Given the description of an element on the screen output the (x, y) to click on. 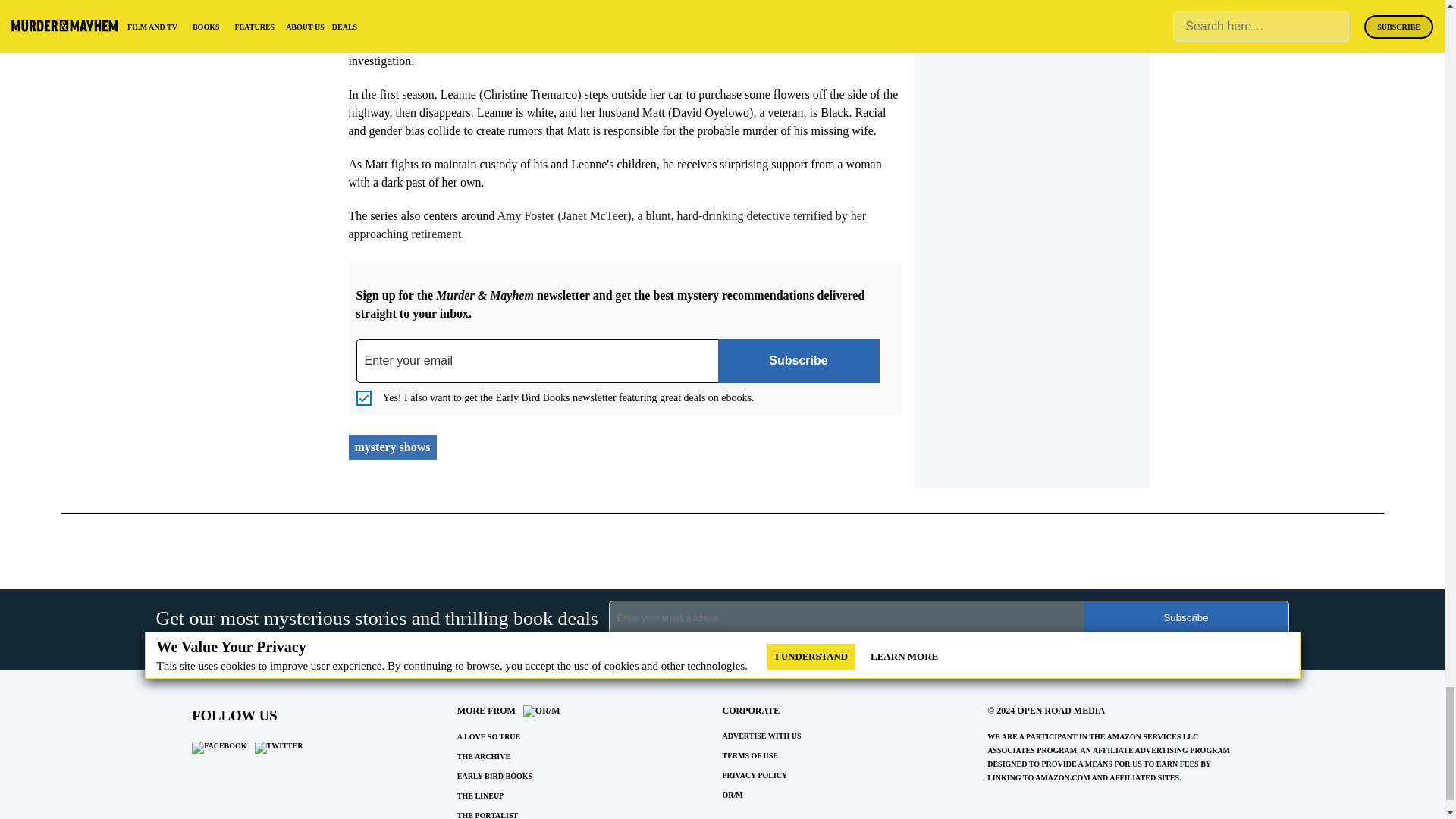
A LOVE SO TRUE (488, 736)
mystery shows (392, 446)
YouTube video player (561, 5)
Subscribe (798, 361)
Facebook (219, 747)
Subscribe (1186, 617)
Twitter (278, 747)
THE ARCHIVE (484, 756)
